Given the description of an element on the screen output the (x, y) to click on. 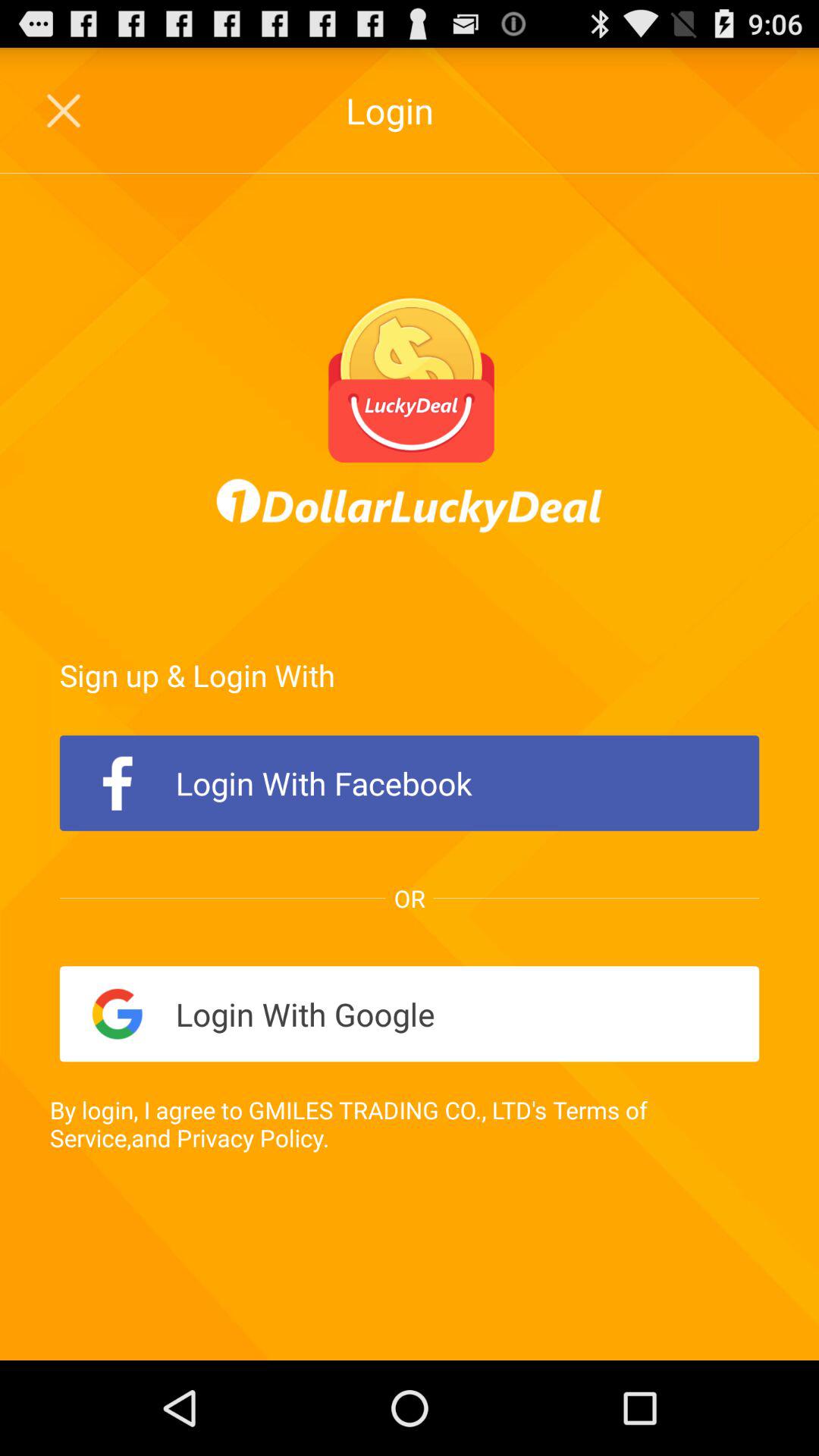
exit (65, 110)
